Given the description of an element on the screen output the (x, y) to click on. 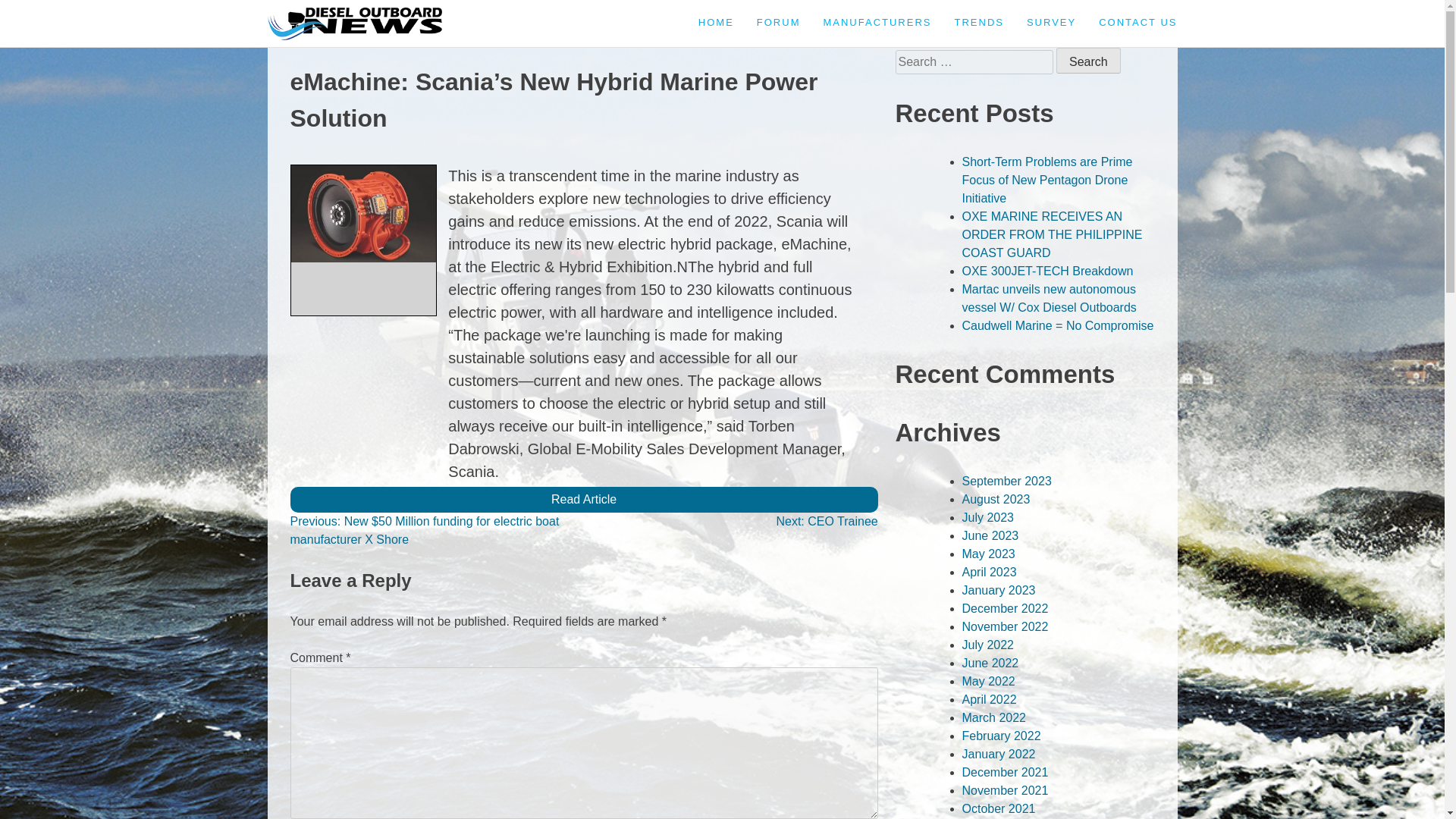
Search (1089, 60)
March 2022 (993, 717)
July 2023 (986, 517)
April 2022 (988, 698)
January 2022 (997, 753)
December 2021 (1004, 771)
CONTACT US (1137, 22)
May 2023 (987, 553)
June 2022 (988, 662)
MANUFACTURERS (876, 22)
SURVEY (1050, 22)
February 2022 (1000, 735)
OXE 300JET-TECH Breakdown (1046, 270)
January 2023 (997, 590)
OXE MARINE RECEIVES AN ORDER FROM THE PHILIPPINE COAST GUARD (1050, 234)
